Given the description of an element on the screen output the (x, y) to click on. 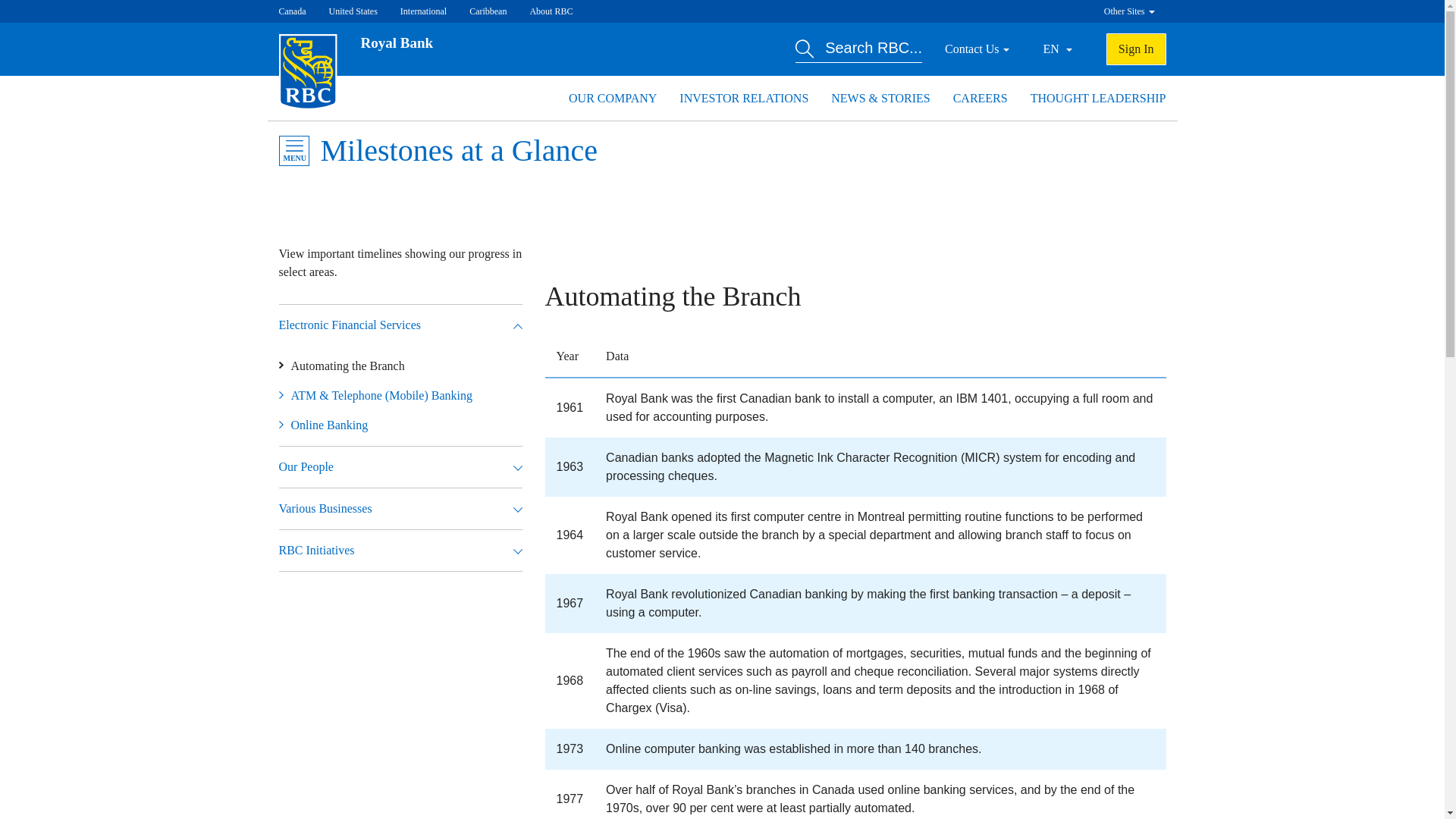
Canada (292, 10)
THOUGHT LEADERSHIP (1098, 98)
Sign In (1136, 49)
International (423, 10)
OUR COMPANY (612, 98)
About RBC (550, 10)
CAREERS (980, 98)
United States (353, 10)
Caribbean (487, 10)
INVESTOR RELATIONS (743, 98)
